Given the description of an element on the screen output the (x, y) to click on. 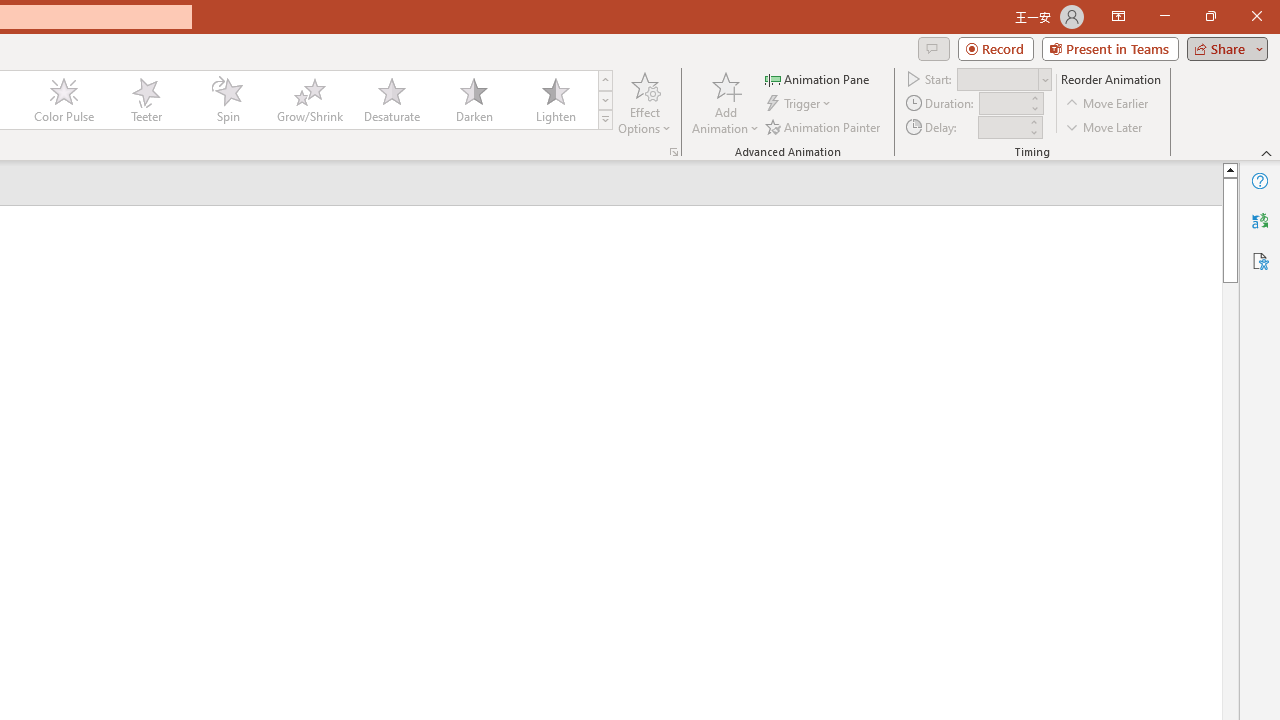
Grow/Shrink (309, 100)
Add Animation (725, 102)
Trigger (799, 103)
Move Earlier (1107, 103)
Lighten (555, 100)
More Options... (673, 151)
